Given the description of an element on the screen output the (x, y) to click on. 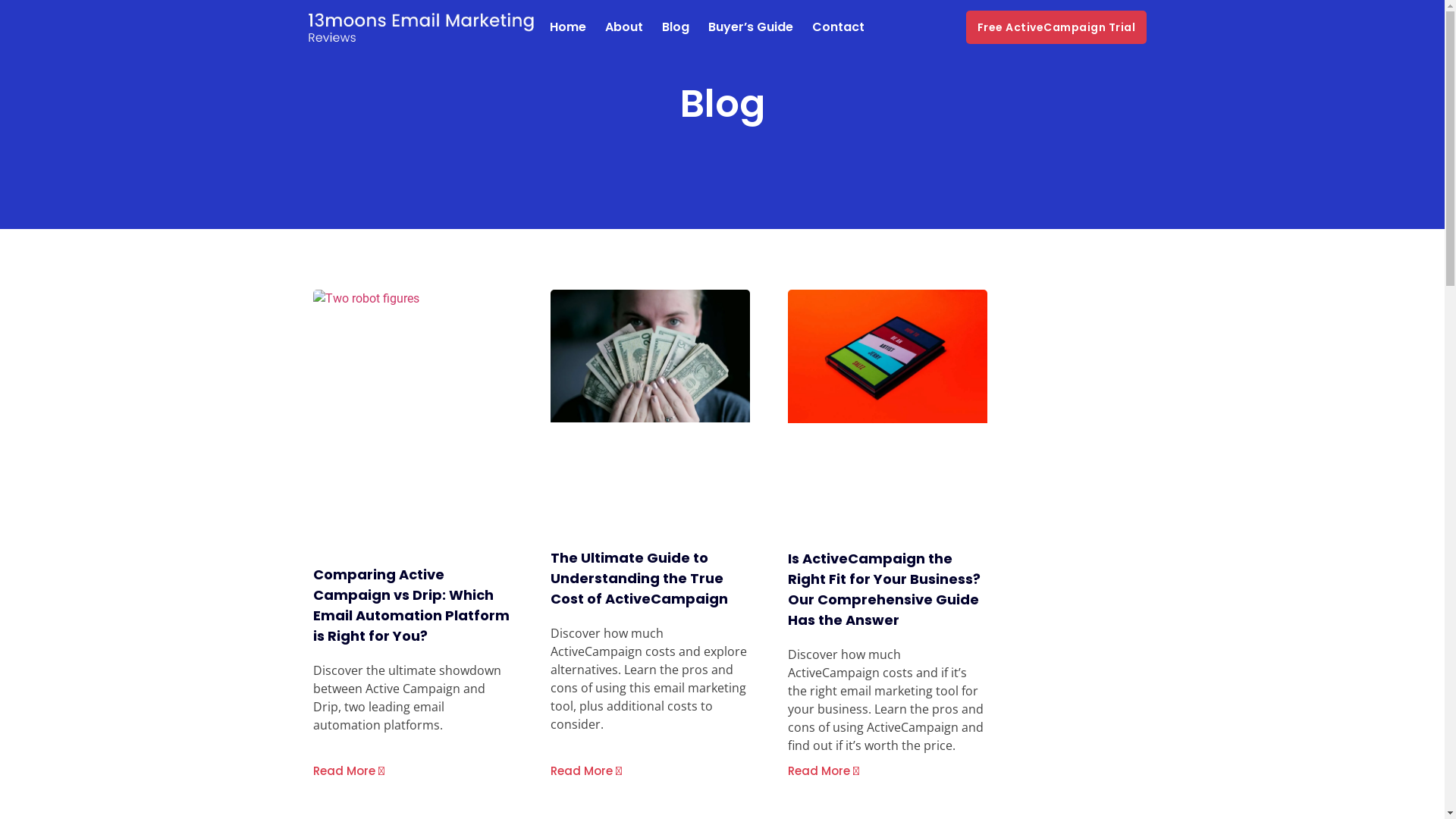
Blog Element type: text (674, 27)
Home Element type: text (567, 27)
Free ActiveCampaign Trial Element type: text (1056, 26)
Contact Element type: text (837, 27)
About Element type: text (624, 27)
